Given the description of an element on the screen output the (x, y) to click on. 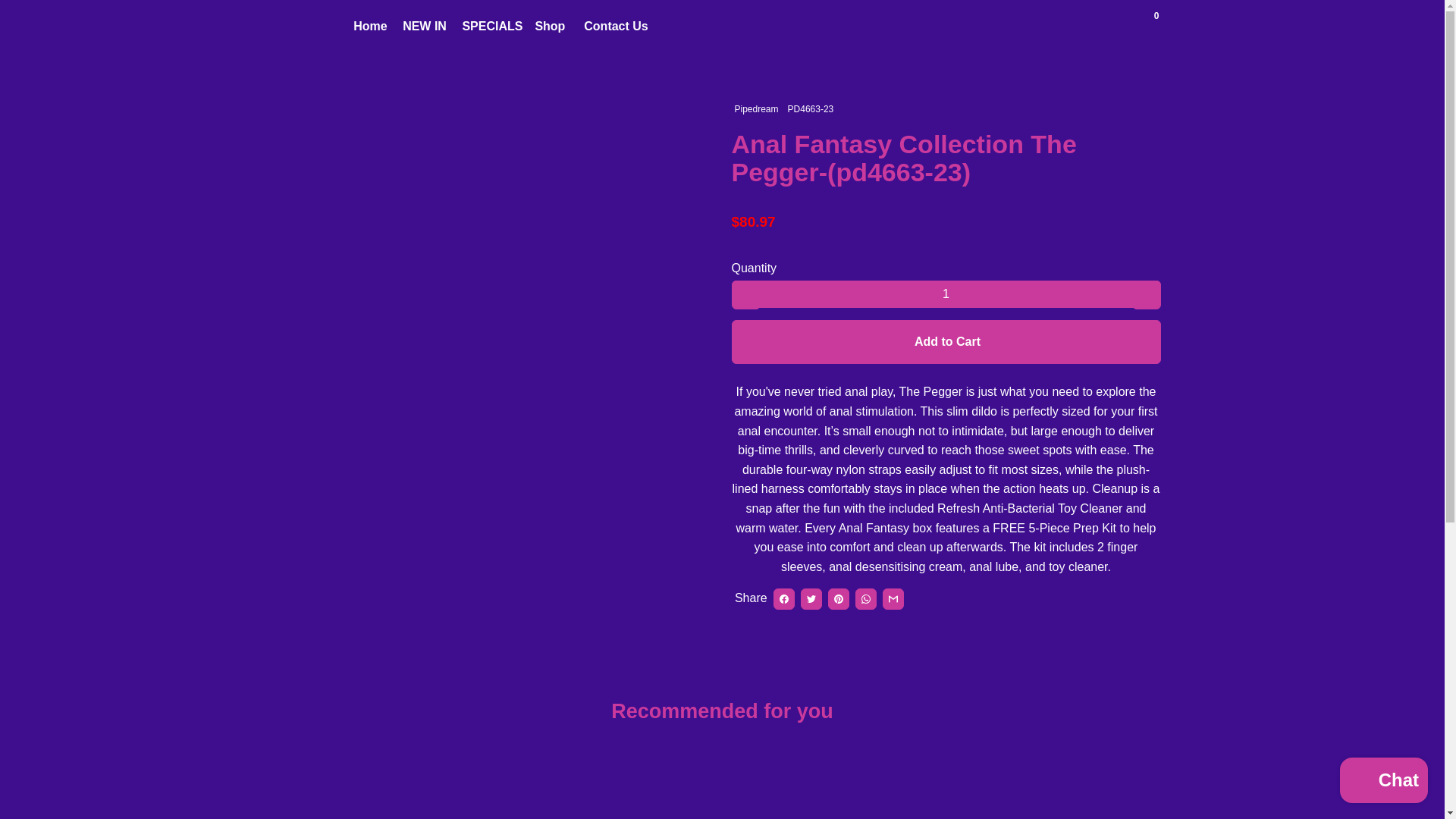
NEW IN (424, 26)
Home (370, 26)
1 (945, 293)
Shop (550, 26)
SPECIALS (491, 26)
